Given the description of an element on the screen output the (x, y) to click on. 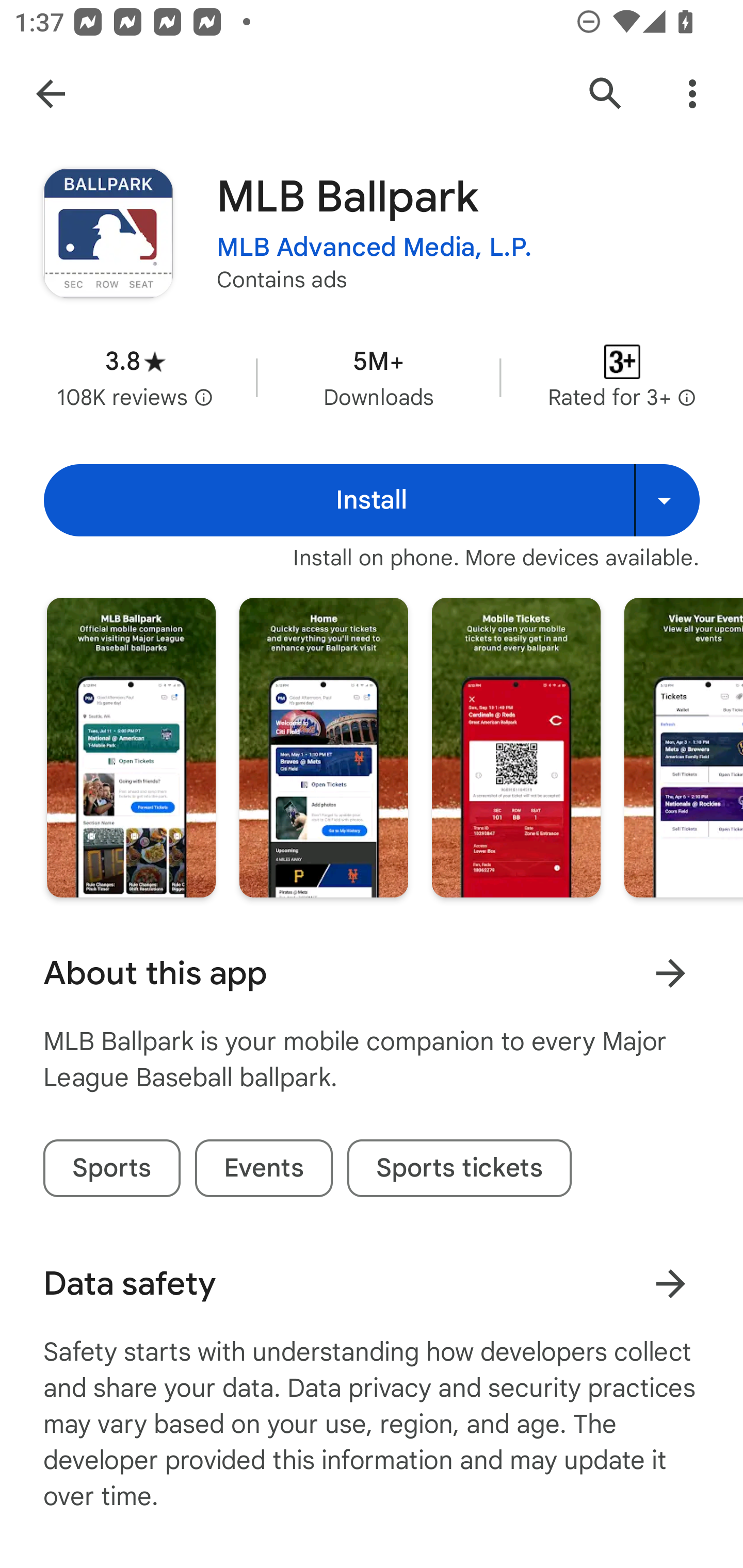
Navigate up (50, 93)
Search Google Play (605, 93)
More Options (692, 93)
MLB Advanced Media, L.P. (374, 247)
Average rating 3.8 stars in 108 thousand reviews (135, 377)
Content rating Rated for 3+ (622, 377)
Install Install Install on more devices (371, 500)
Install on more devices (667, 500)
Screenshot "1" of "8" (130, 746)
Screenshot "2" of "8" (323, 746)
Screenshot "3" of "8" (515, 746)
About this app Learn more About this app (371, 972)
Learn more About this app (670, 972)
Sports tag (111, 1168)
Events tag (263, 1168)
Sports tickets tag (458, 1168)
Data safety Learn more about data safety (371, 1284)
Learn more about data safety (670, 1283)
